Given the description of an element on the screen output the (x, y) to click on. 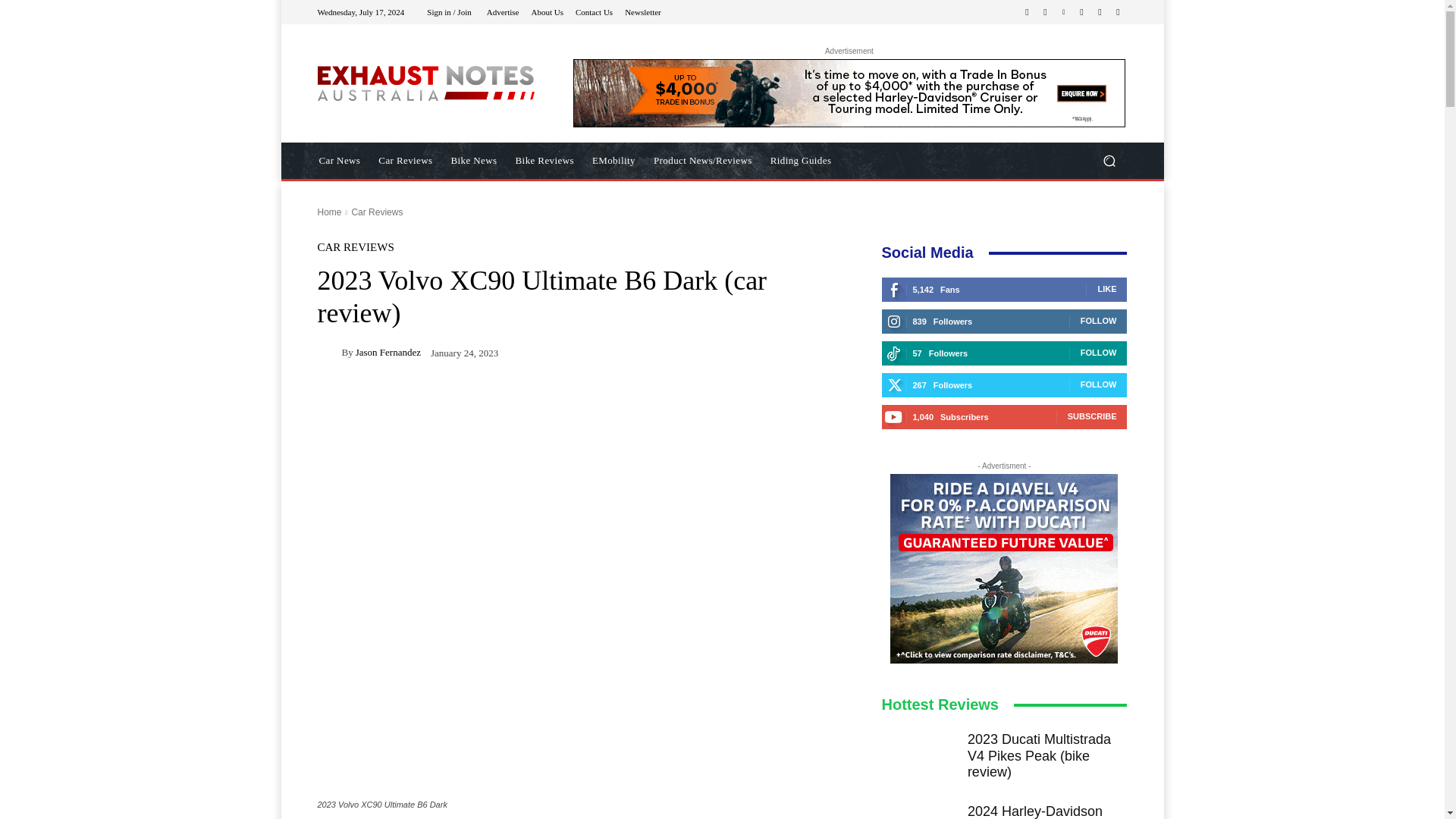
Riding Guides (801, 160)
Car Reviews (405, 160)
CAR REVIEWS (355, 247)
Instagram (1044, 12)
Contact Us (593, 11)
Bike Reviews (544, 160)
Facebook (1026, 12)
Advertise (502, 11)
TikTok (1080, 12)
About Us (546, 11)
Bike News (474, 160)
Car Reviews (376, 212)
Youtube (1117, 12)
Newsletter (642, 11)
Linkedin (1062, 12)
